Given the description of an element on the screen output the (x, y) to click on. 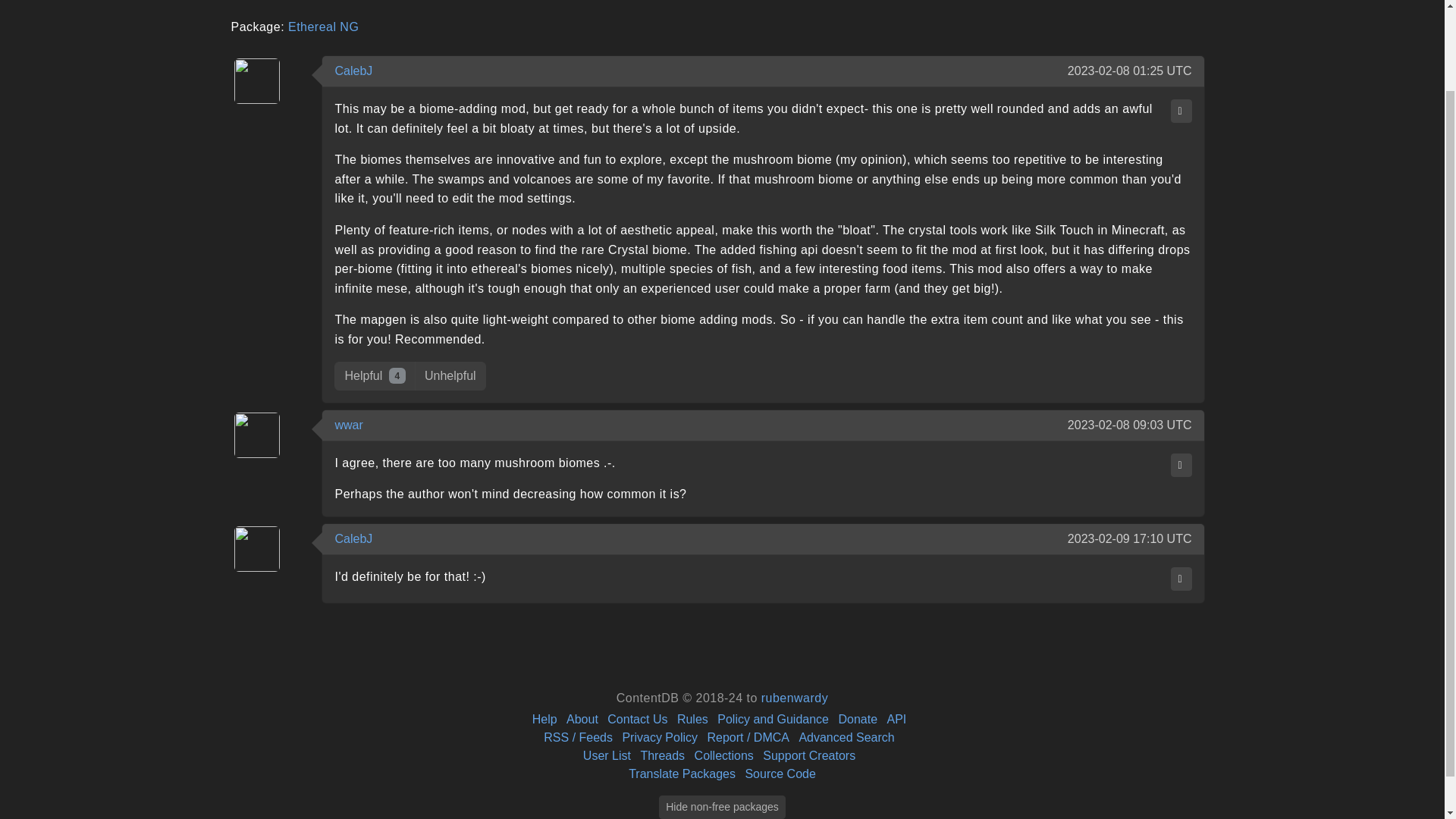
CalebJ (353, 538)
2023-02-08 01:25 UTC (1129, 71)
2023-02-08 09:03 UTC (1129, 425)
2023-02-08 01:25 UTC (1129, 71)
Ethereal NG (323, 26)
2023-02-09 17:10 UTC (1129, 538)
2023-02-09 17:10 UTC (1129, 538)
wwar (348, 424)
CalebJ (353, 70)
Helpful 4 (374, 375)
